Given the description of an element on the screen output the (x, y) to click on. 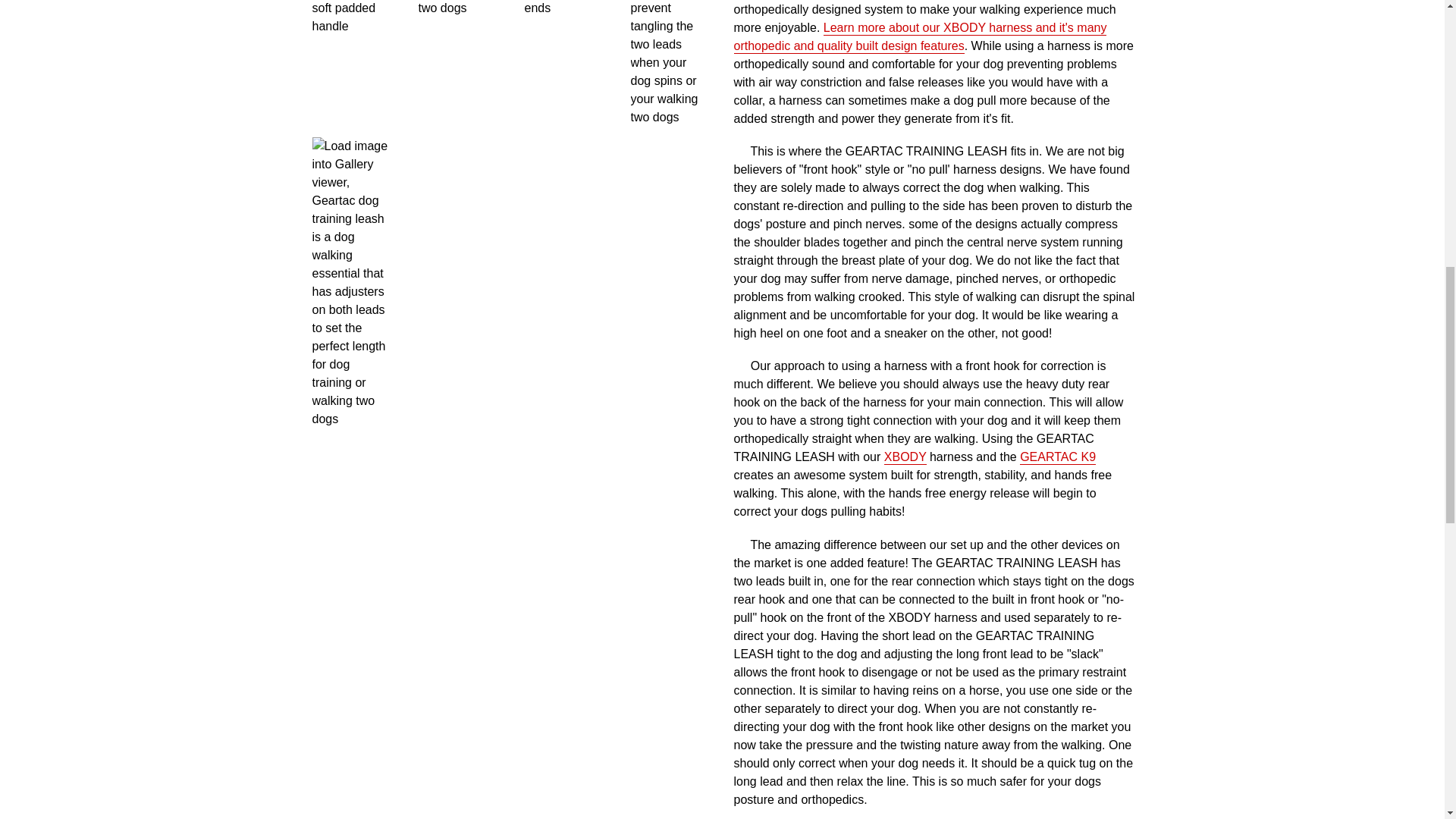
geartac k9 hands free dog walking device (1058, 457)
